Given the description of an element on the screen output the (x, y) to click on. 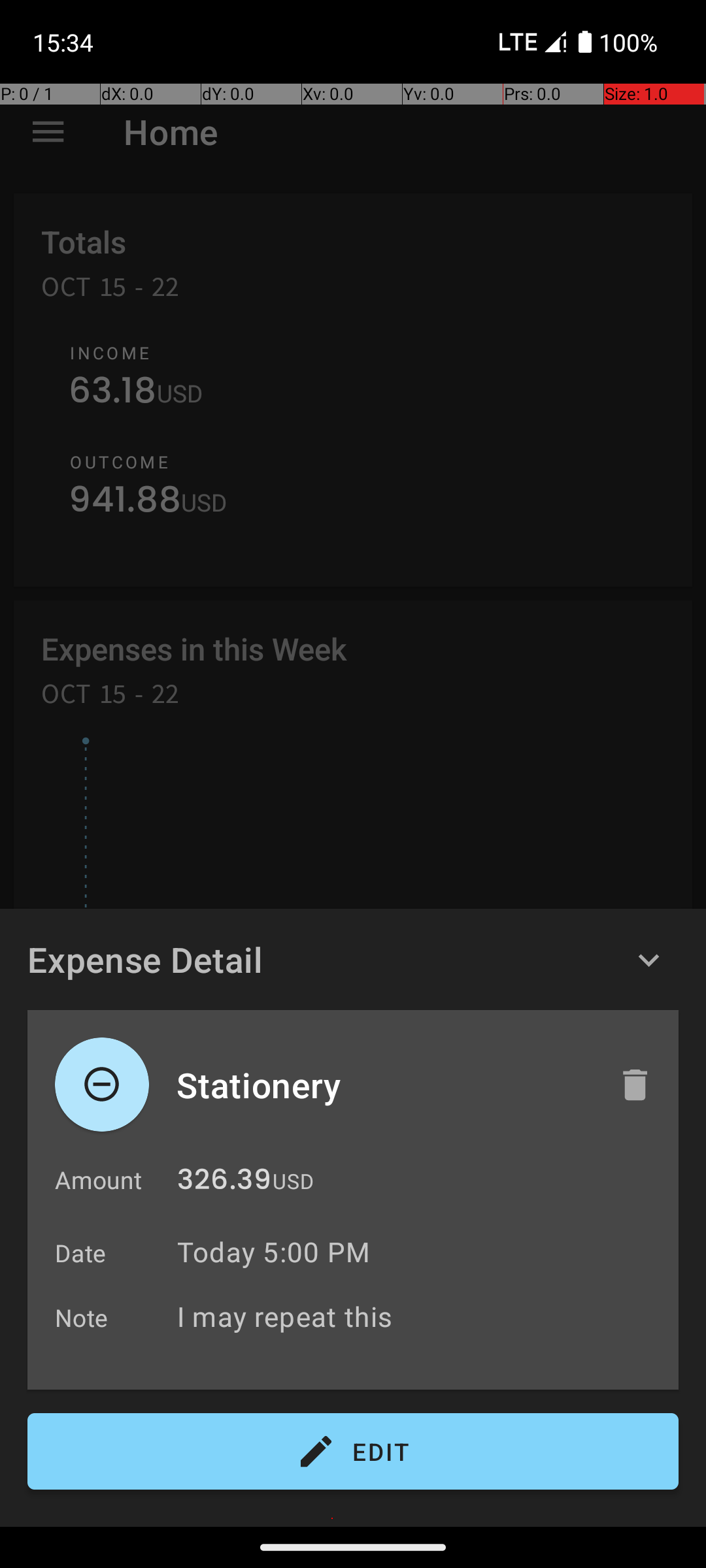
326.39 Element type: android.widget.TextView (223, 1182)
